Given the description of an element on the screen output the (x, y) to click on. 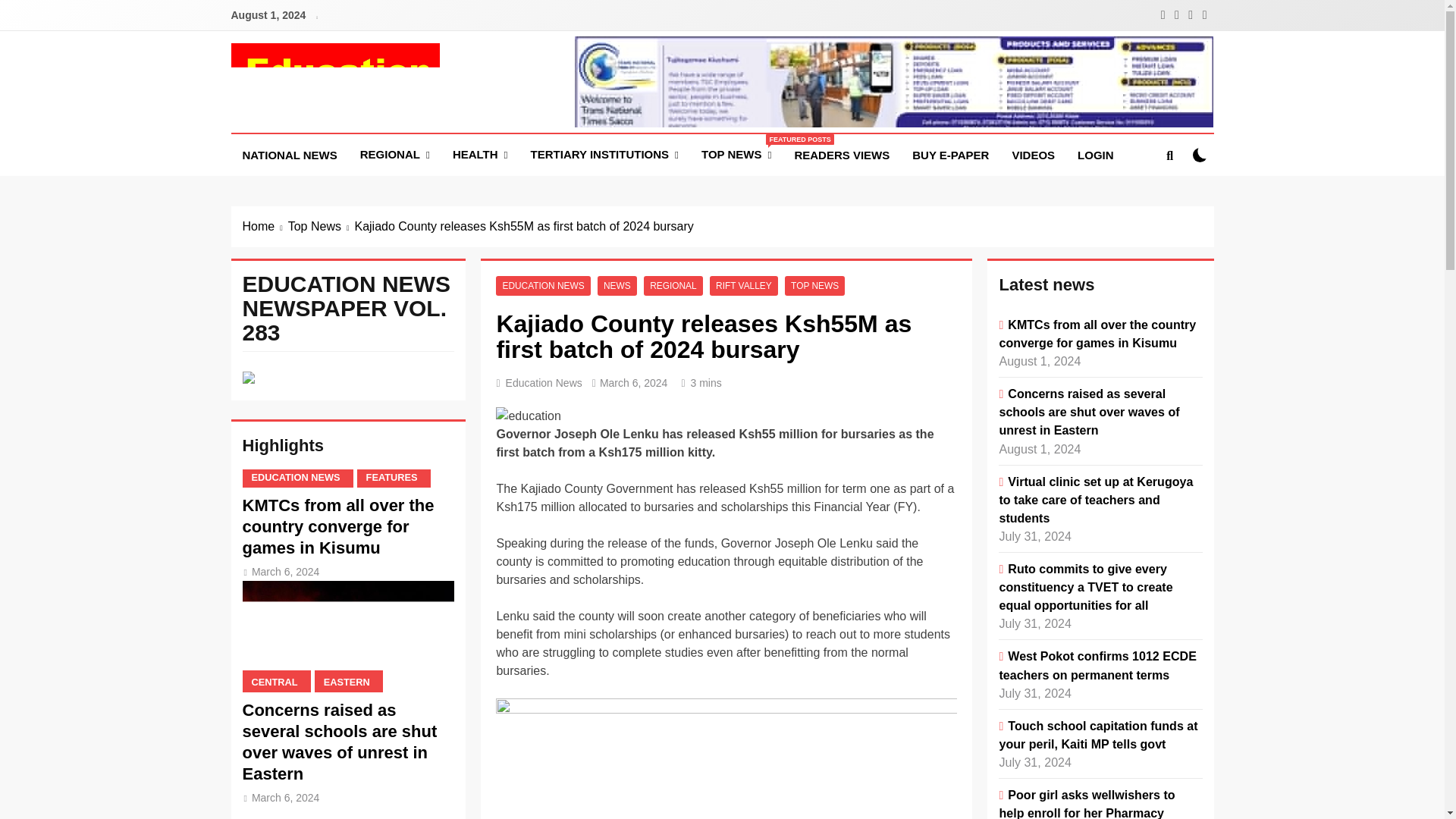
LOGIN (1095, 155)
BUY E-PAPER (950, 155)
HEALTH (480, 155)
READERS VIEWS (842, 155)
TERTIARY INSTITUTIONS (736, 155)
REGIONAL (604, 155)
VIDEOS (395, 155)
on (1032, 155)
NATIONAL NEWS (1199, 155)
Home (288, 155)
